Given the description of an element on the screen output the (x, y) to click on. 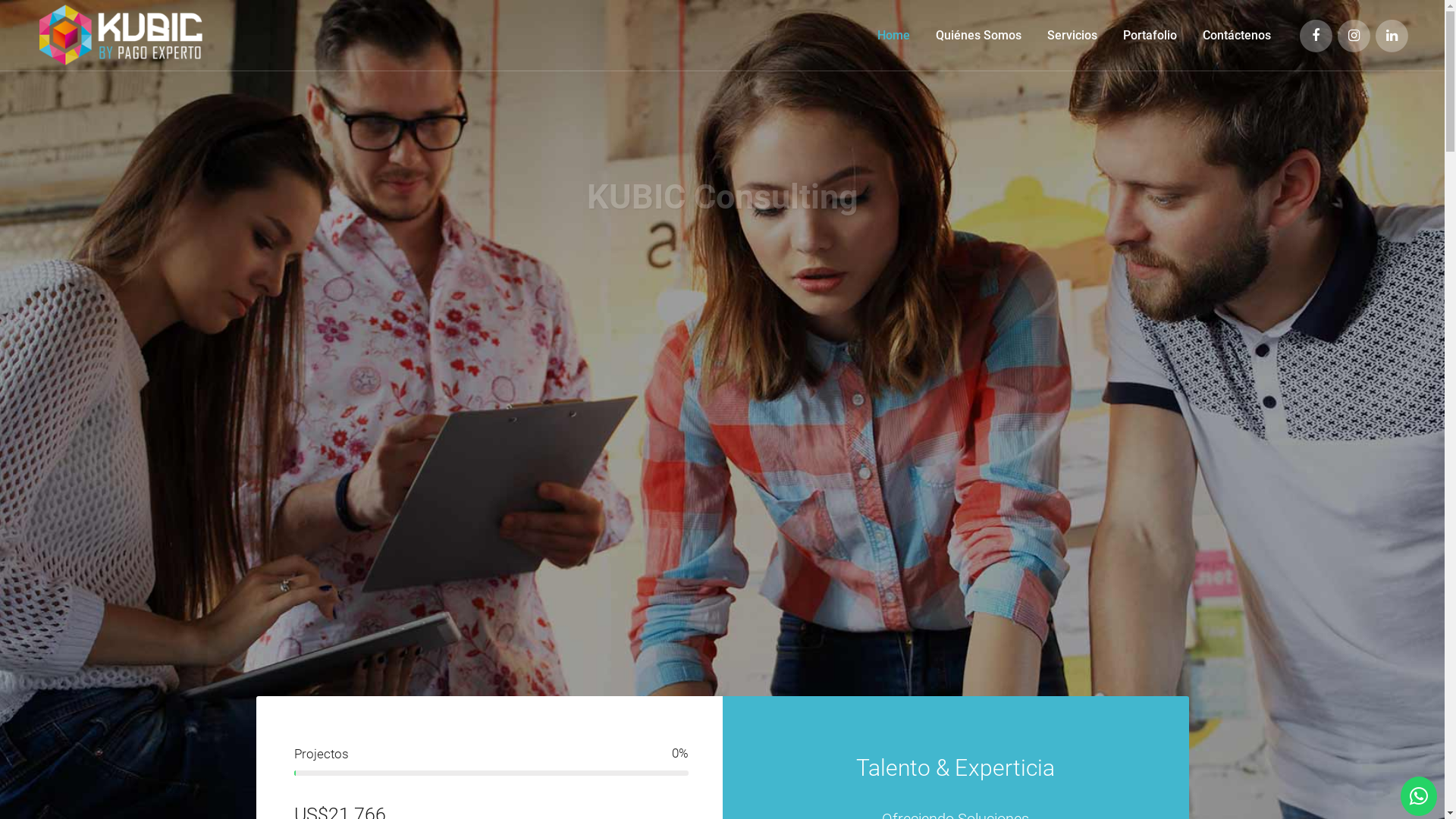
WhatsApp us Element type: hover (1418, 795)
Home Element type: text (893, 35)
Servicios Element type: text (1072, 35)
Portafolio Element type: text (1149, 35)
